Given the description of an element on the screen output the (x, y) to click on. 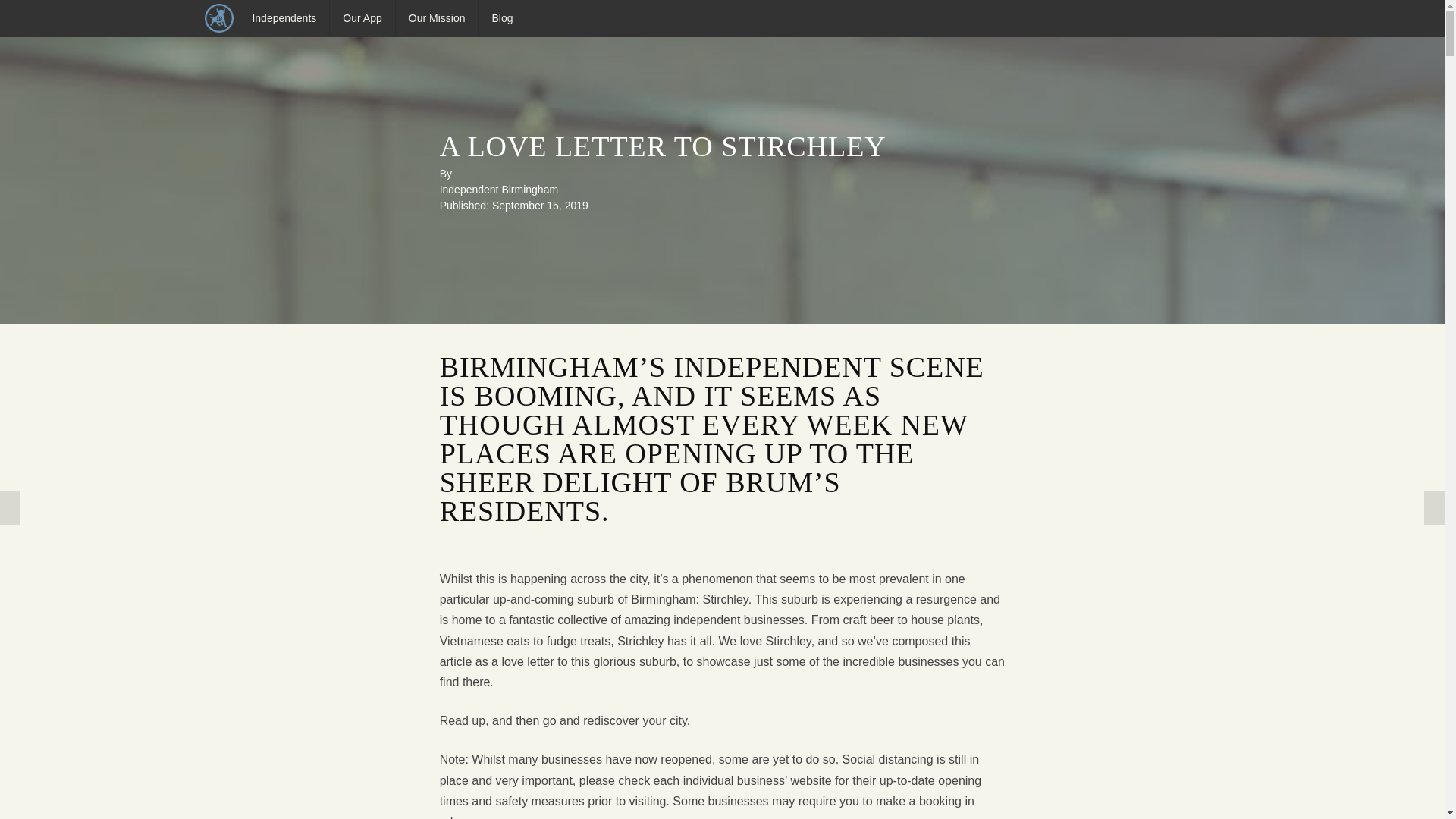
Independents (285, 18)
Our App (363, 18)
Blog (503, 18)
Our Mission (437, 18)
